Given the description of an element on the screen output the (x, y) to click on. 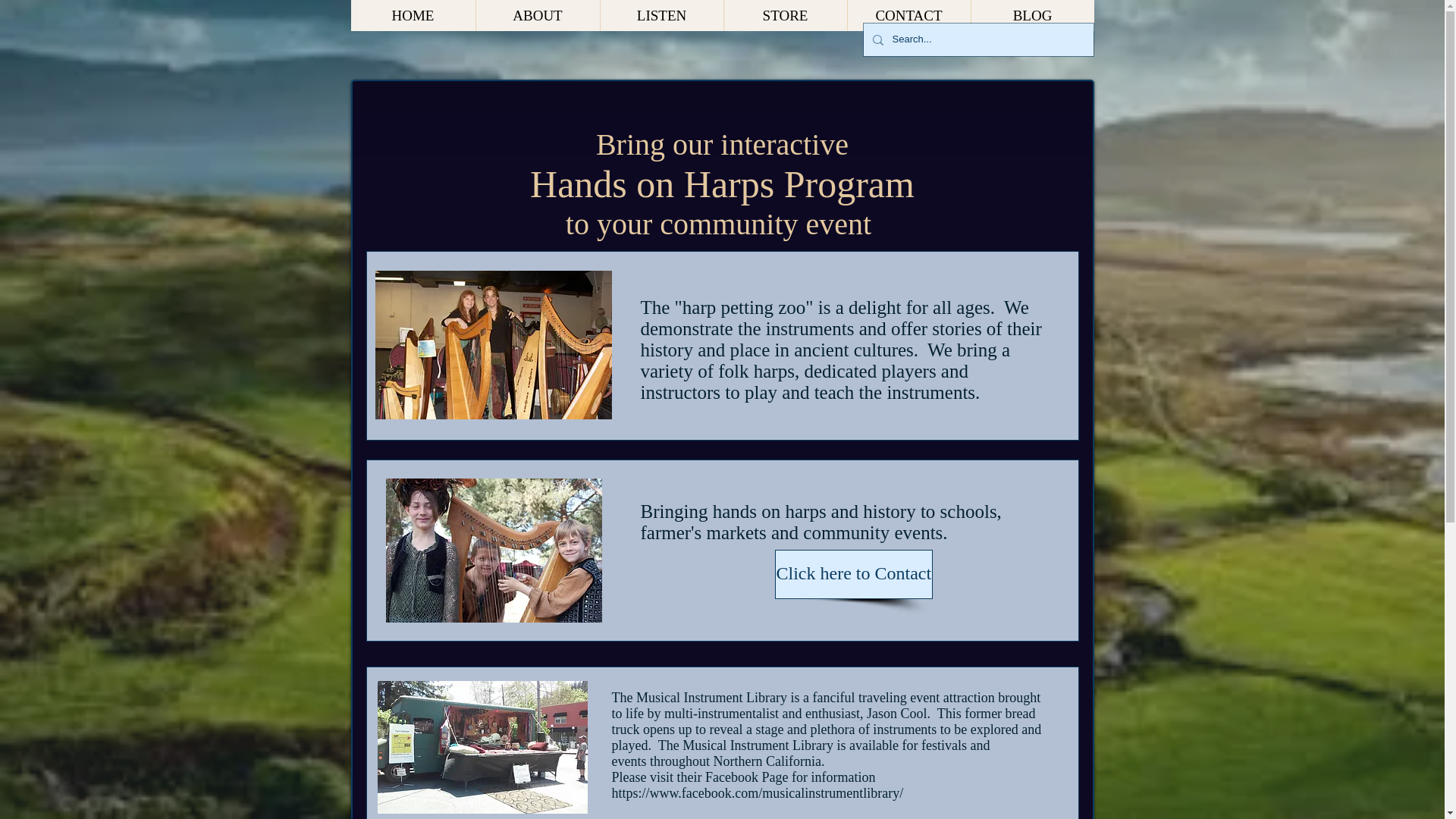
CONTACT (907, 15)
STORE (785, 15)
Click here to Contact (853, 573)
LISTEN (660, 15)
BLOG (1032, 15)
ABOUT (536, 15)
HOME (412, 15)
